Given the description of an element on the screen output the (x, y) to click on. 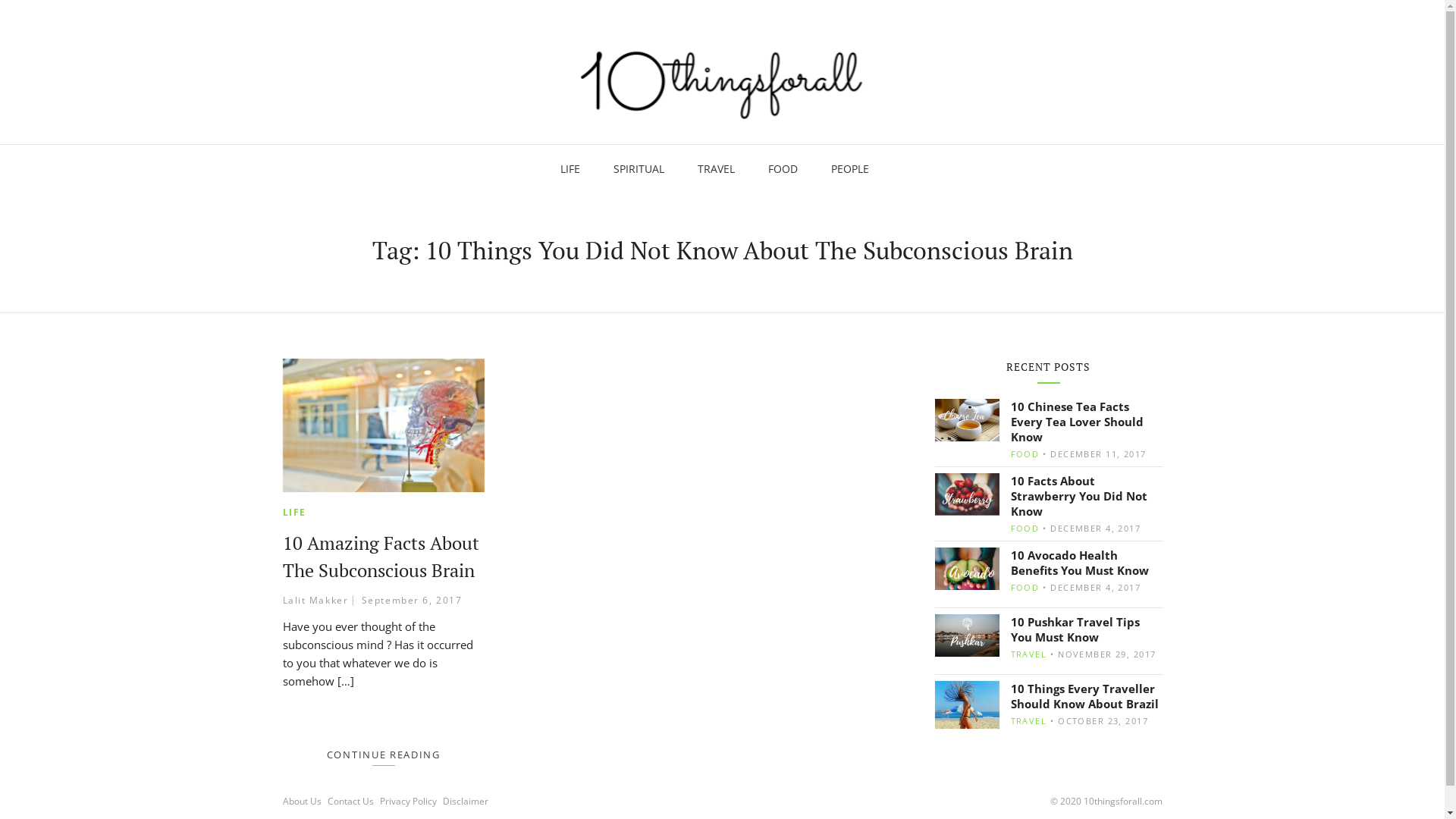
TRAVEL Element type: text (715, 166)
FOOD Element type: text (1030, 527)
Disclaimer Element type: text (467, 801)
FOOD Element type: text (1030, 587)
Contact Us Element type: text (352, 801)
10 Things Every Traveller Should Know About Brazil Element type: text (1085, 695)
10 Pushkar Travel Tips You Must Know Element type: text (1085, 629)
PEOPLE Element type: text (850, 166)
FOOD Element type: text (1030, 453)
TRAVEL Element type: text (1033, 720)
About Us Element type: text (303, 801)
SPIRITUAL Element type: text (638, 166)
10 Amazing Facts About The Subconscious Brain Element type: text (380, 556)
LIFE Element type: text (570, 166)
10 Chinese Tea Facts Every Tea Lover Should Know Element type: text (1085, 421)
Lalit Makker Element type: text (315, 599)
FOOD Element type: text (782, 166)
10 Facts About Strawberry You Did Not Know Element type: text (1085, 495)
CONTINUE READING Element type: text (383, 754)
TRAVEL Element type: text (1033, 653)
10 Amazing Facts About The Subconscious Brain Element type: hover (383, 425)
LIFE Element type: text (293, 511)
10 Avocado Health Benefits You Must Know Element type: text (1085, 562)
Privacy Policy Element type: text (409, 801)
